Given the description of an element on the screen output the (x, y) to click on. 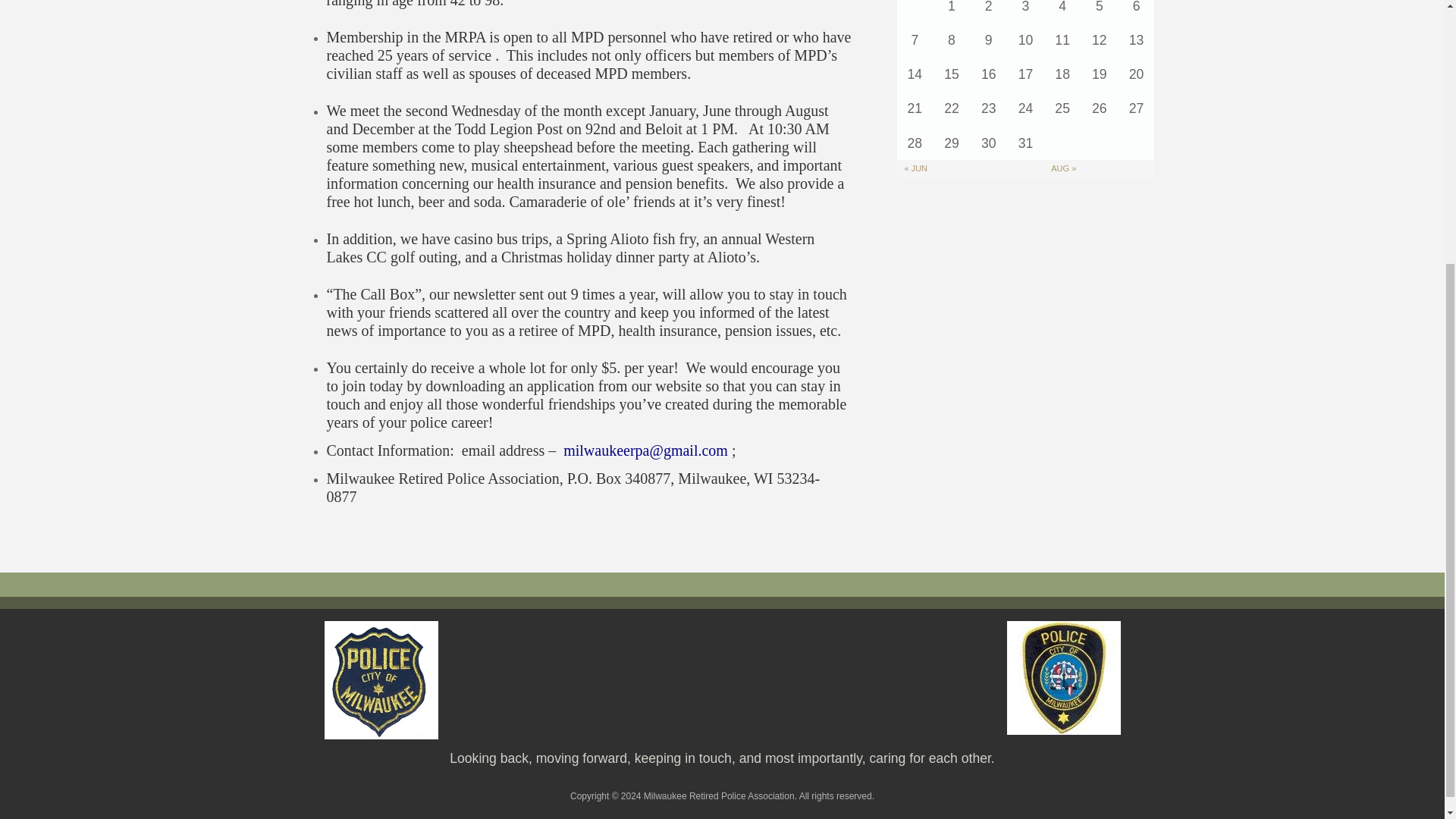
Next month (1063, 167)
Previous month (915, 167)
